Given the description of an element on the screen output the (x, y) to click on. 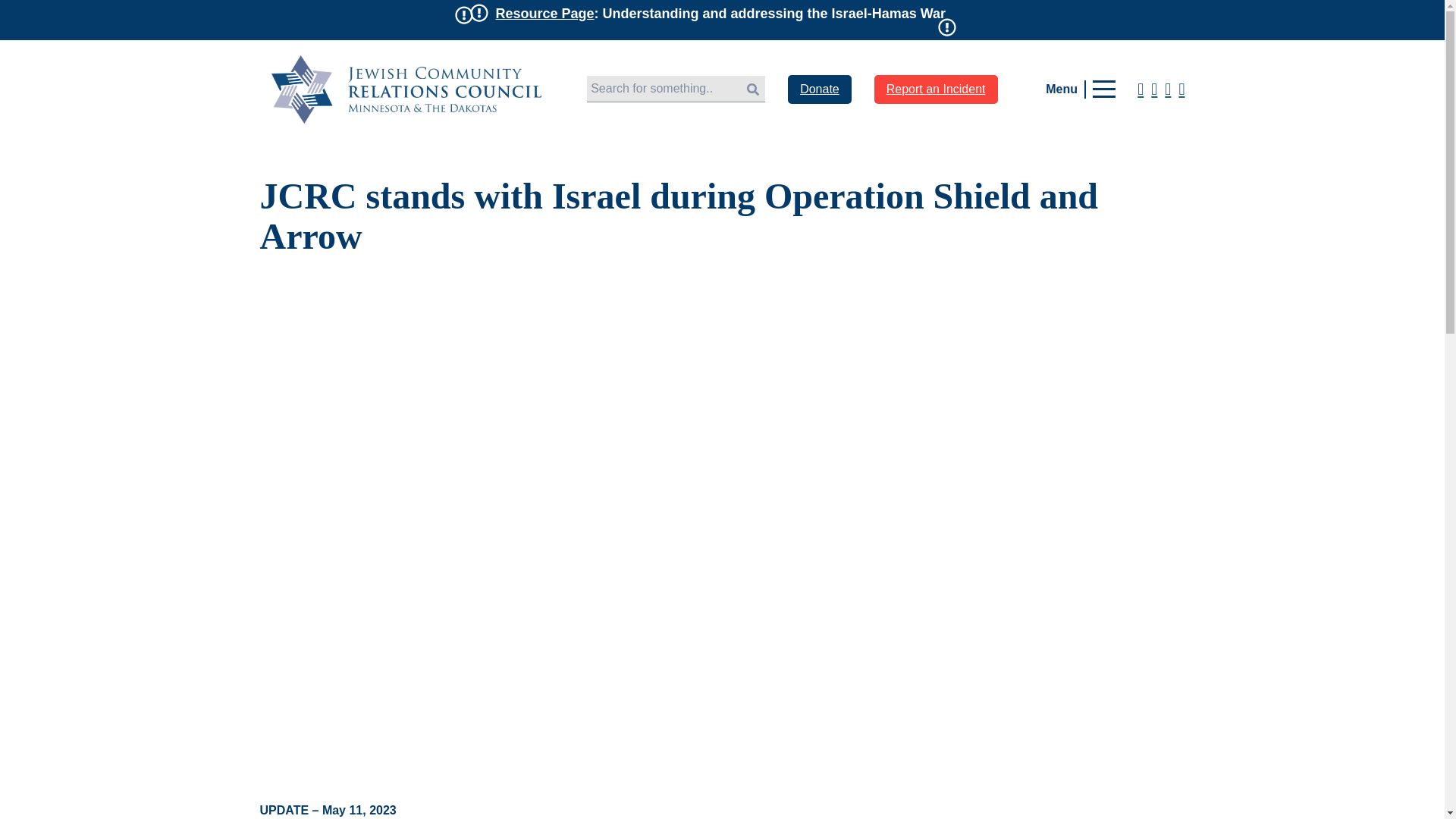
Search (753, 89)
Donate (819, 89)
JCRC (405, 89)
Resource Page (545, 13)
Report an Incident (936, 89)
